Given the description of an element on the screen output the (x, y) to click on. 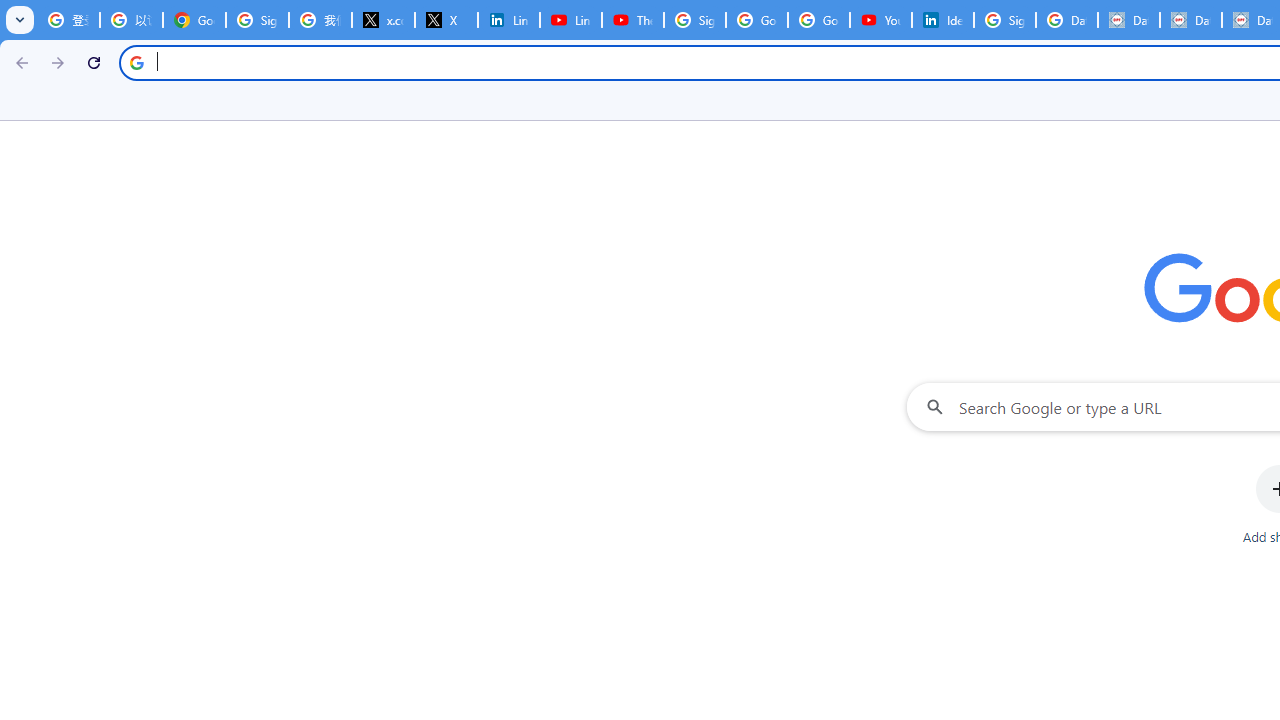
Data Privacy Framework (1128, 20)
LinkedIn Privacy Policy (508, 20)
